Given the description of an element on the screen output the (x, y) to click on. 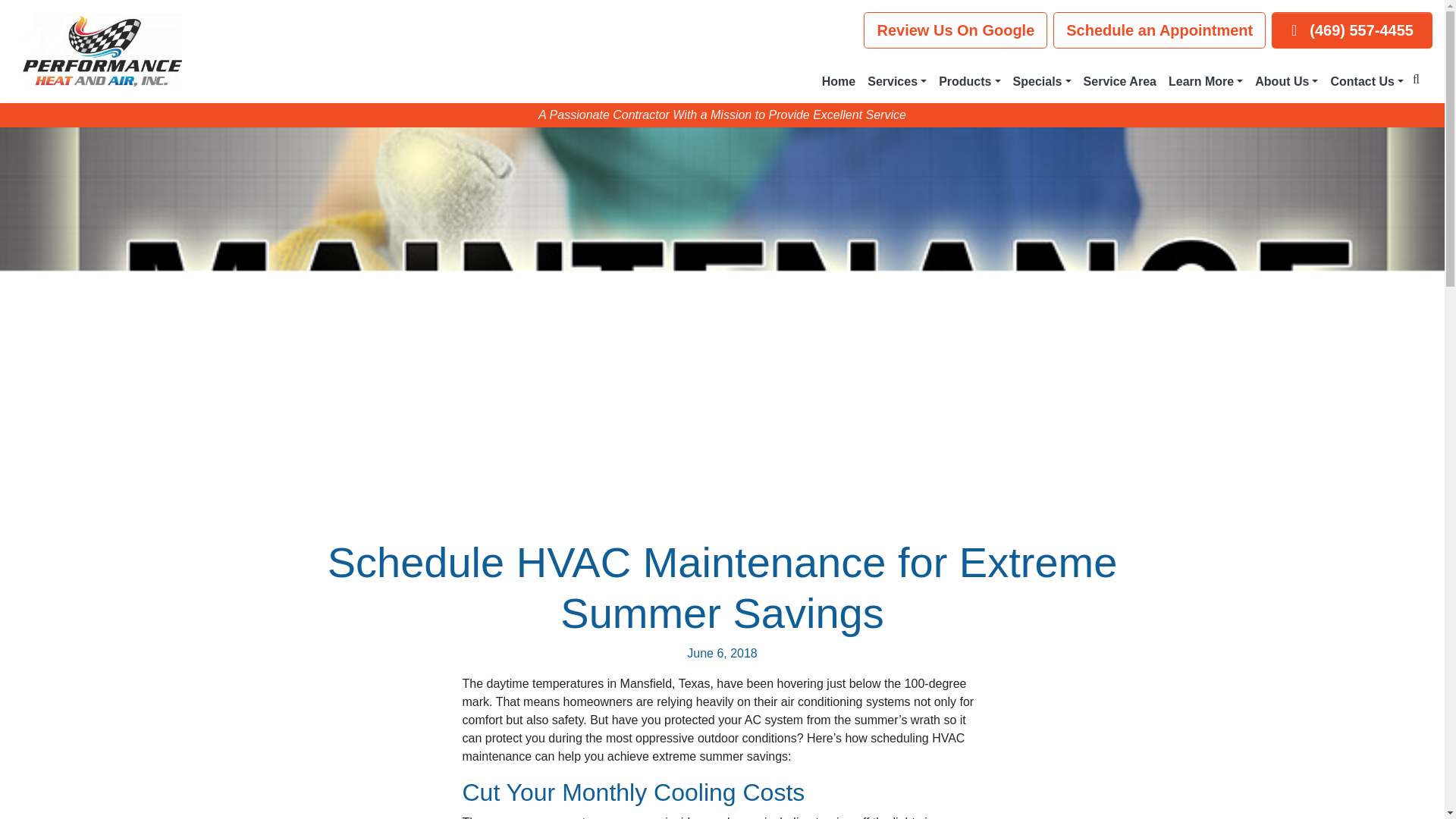
Service Area (1119, 81)
Learn More (1205, 81)
Review Us On Google (954, 30)
About Us (1286, 81)
Schedule an Appointment (1158, 30)
Products (969, 81)
Services (897, 81)
Specials (1042, 81)
Home (838, 81)
